Given the description of an element on the screen output the (x, y) to click on. 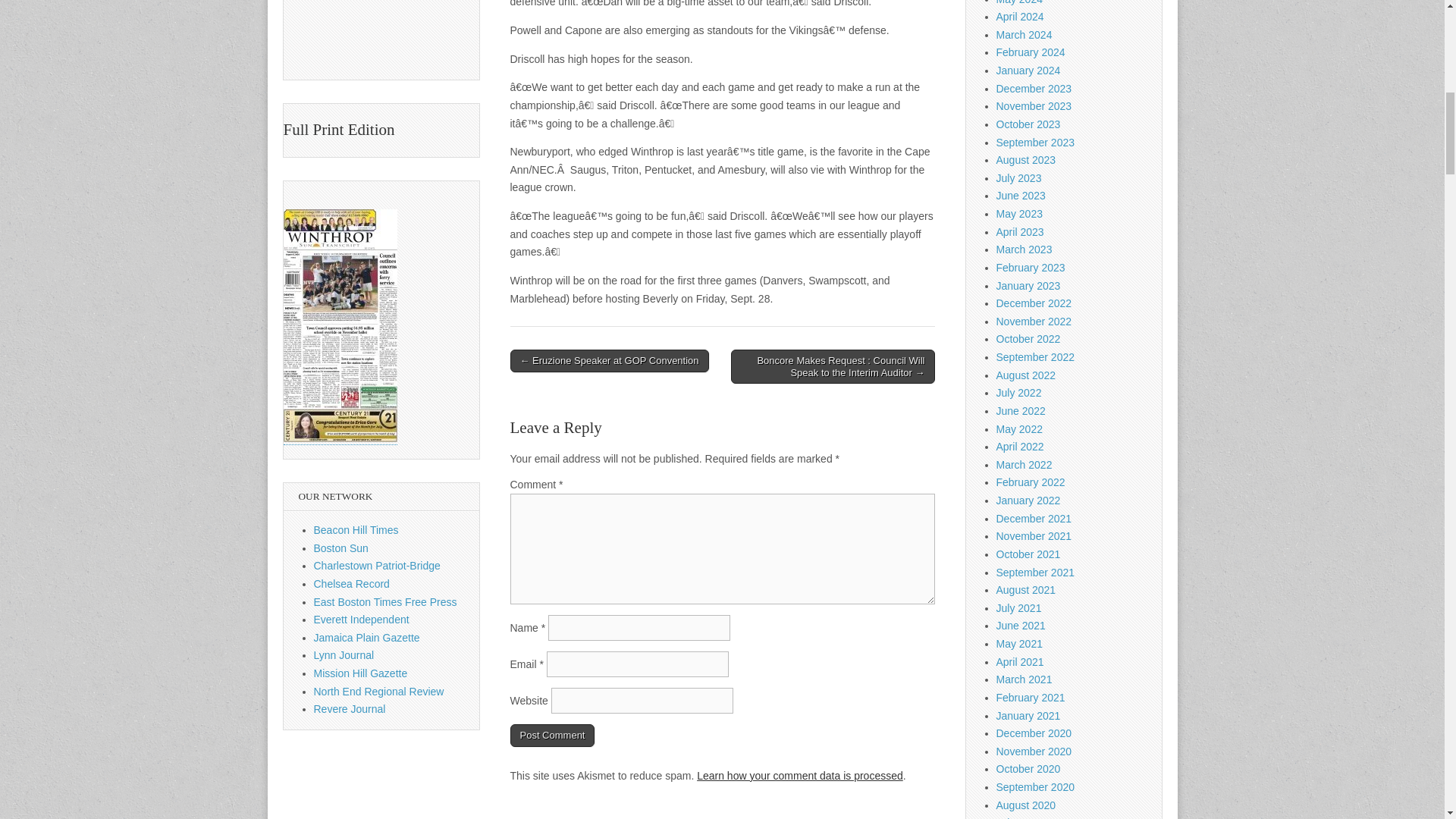
North End Regional Review (379, 691)
Post Comment (551, 734)
Everett Independent (361, 619)
Lynn Journal (344, 654)
Mission Hill Gazette (360, 673)
Chelsea Record (352, 583)
Revere Journal (349, 708)
Learn how your comment data is processed (799, 775)
East Boston Times Free Press (385, 602)
Jamaica Plain Gazette (367, 637)
